Given the description of an element on the screen output the (x, y) to click on. 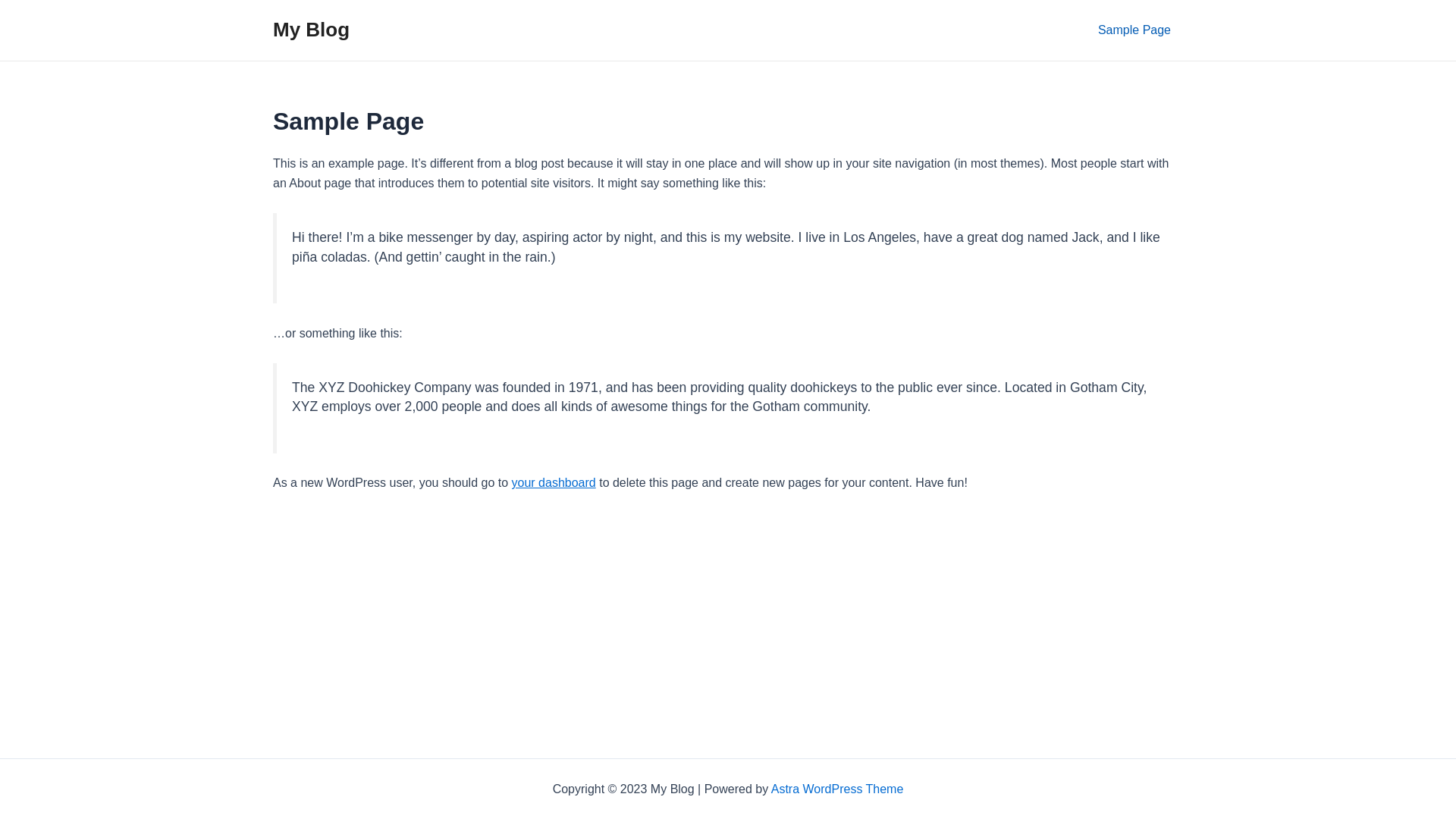
your dashboard Element type: text (553, 482)
Astra WordPress Theme Element type: text (837, 788)
Sample Page Element type: text (1134, 30)
My Blog Element type: text (311, 29)
